Given the description of an element on the screen output the (x, y) to click on. 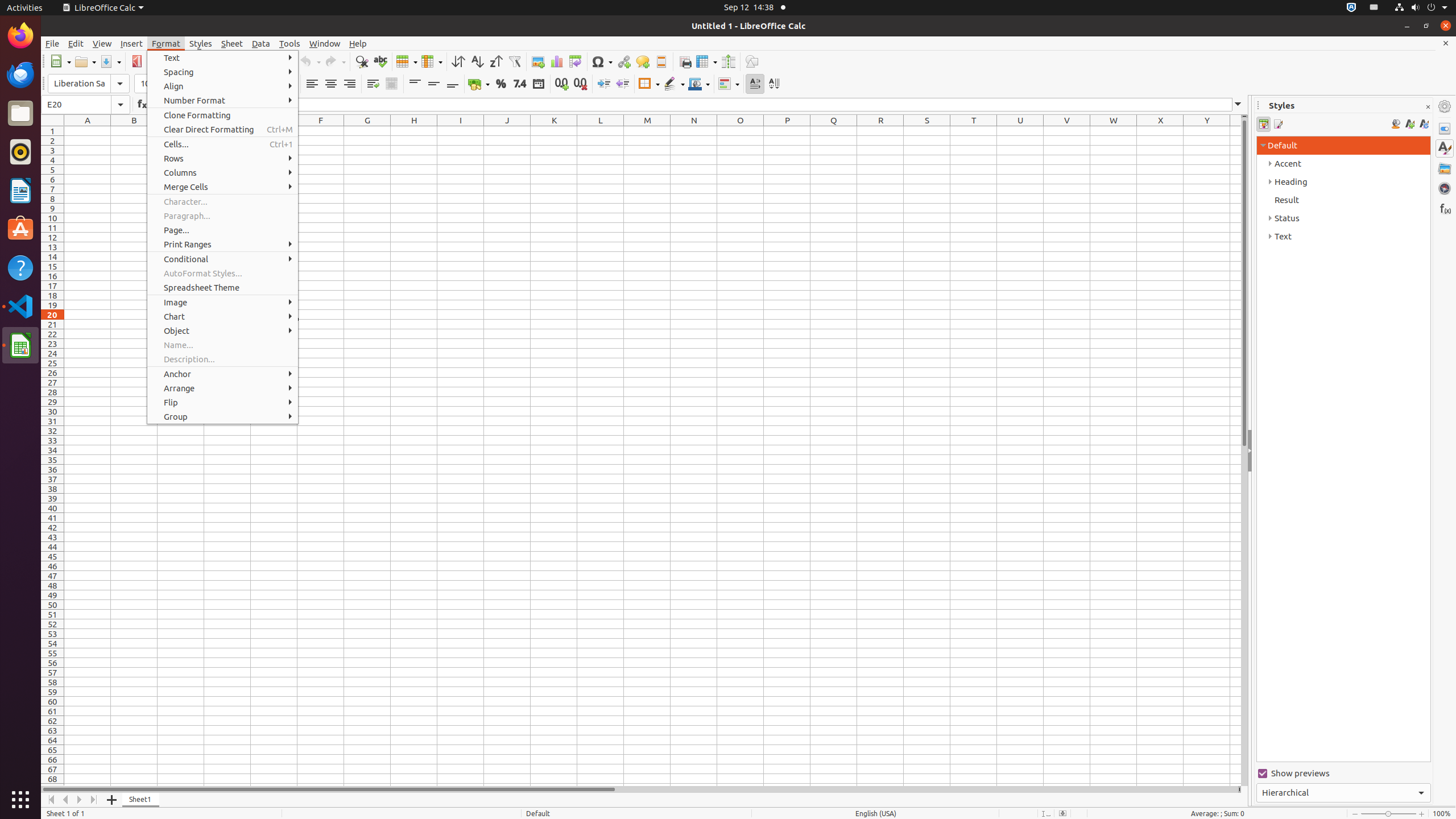
Styles Element type: menu (200, 43)
Column Element type: push-button (431, 61)
Thunderbird Mail Element type: push-button (20, 74)
PDF Element type: push-button (136, 61)
New Element type: push-button (59, 61)
